Given the description of an element on the screen output the (x, y) to click on. 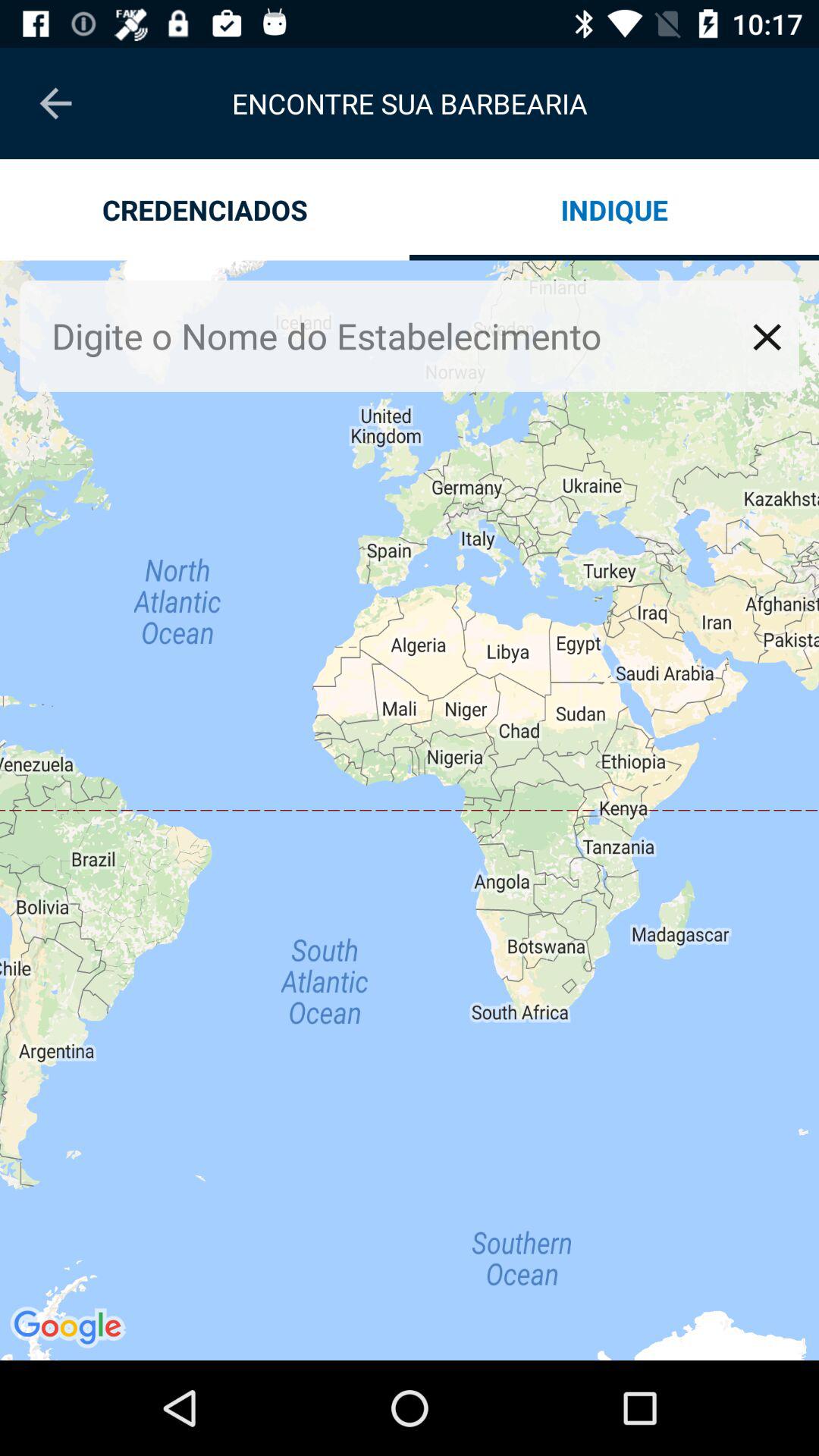
launch the item to the left of the encontre sua barbearia (55, 103)
